Given the description of an element on the screen output the (x, y) to click on. 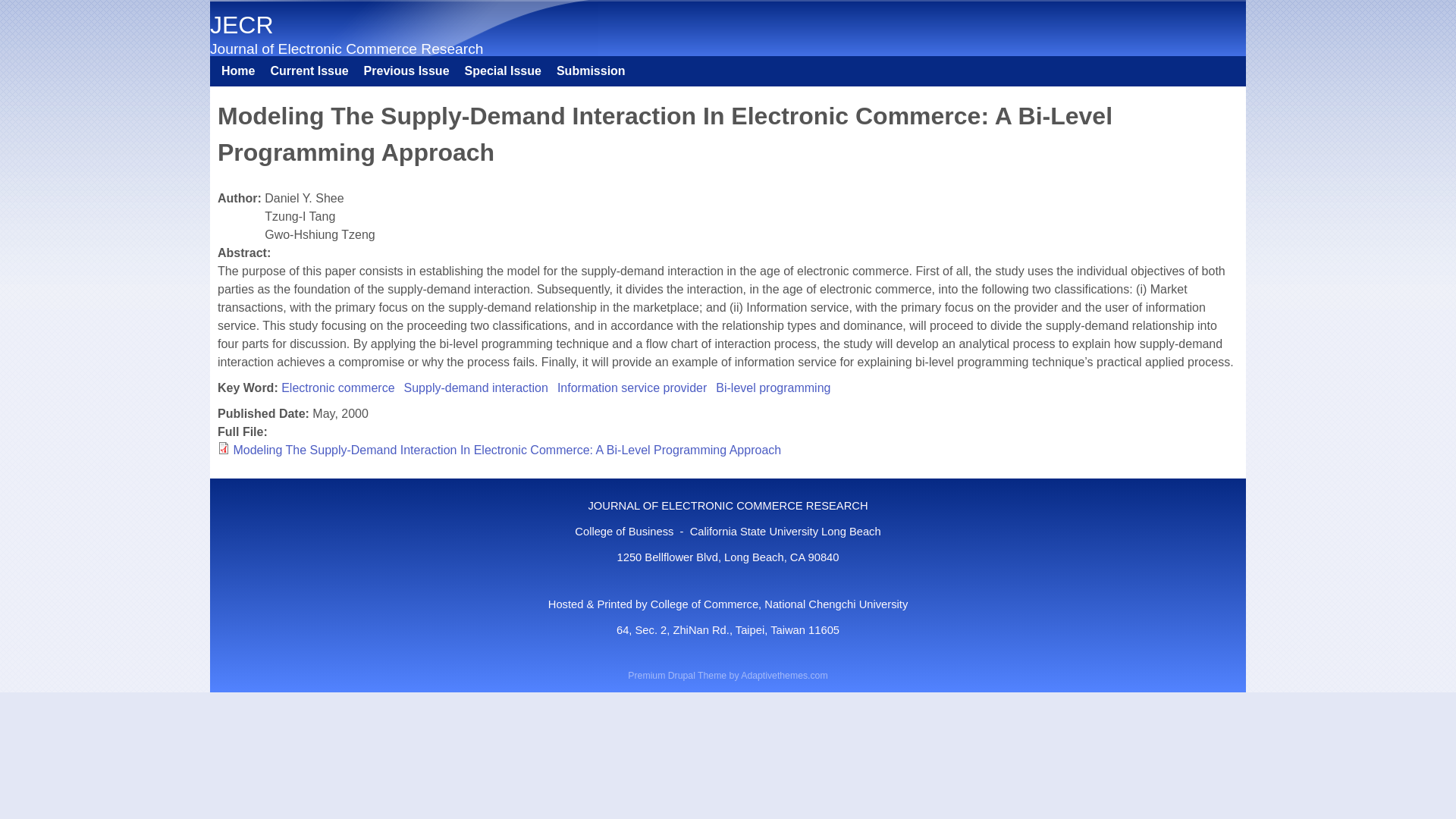
Previous Issue (406, 70)
Adaptivethemes.com (784, 675)
Special Issue (502, 70)
Information service provider (631, 386)
Home (238, 70)
JECR (241, 24)
Submission (590, 70)
Supply-demand interaction (476, 386)
Home page (241, 24)
Electronic commerce (337, 386)
Bi-level programming (772, 386)
Current Issue (308, 70)
